Given the description of an element on the screen output the (x, y) to click on. 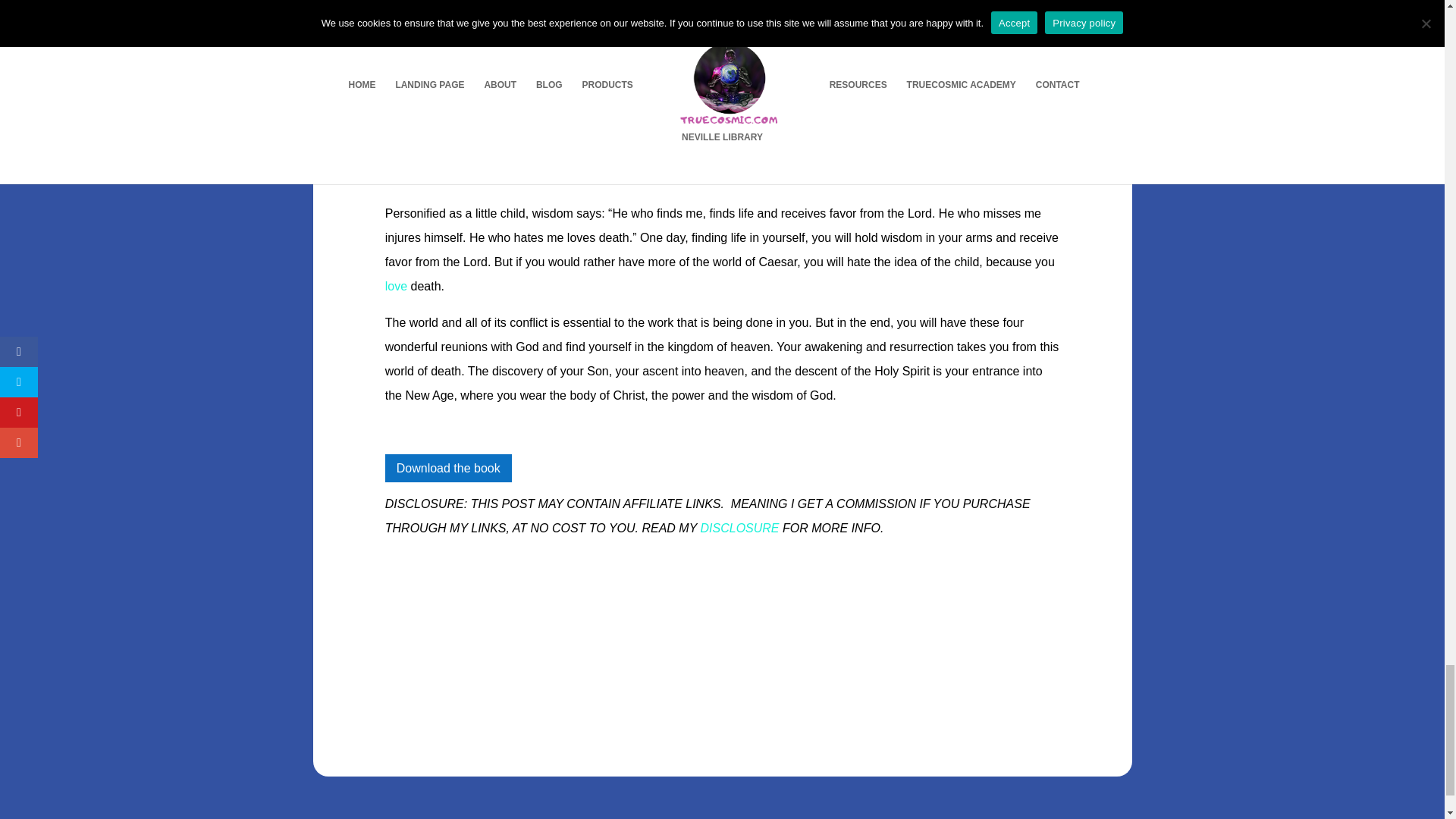
Abdullah (549, 19)
love (396, 286)
DISCLOSURE (739, 527)
Download the book (448, 468)
love and relationships (396, 286)
nevilles teachings (549, 19)
